Given the description of an element on the screen output the (x, y) to click on. 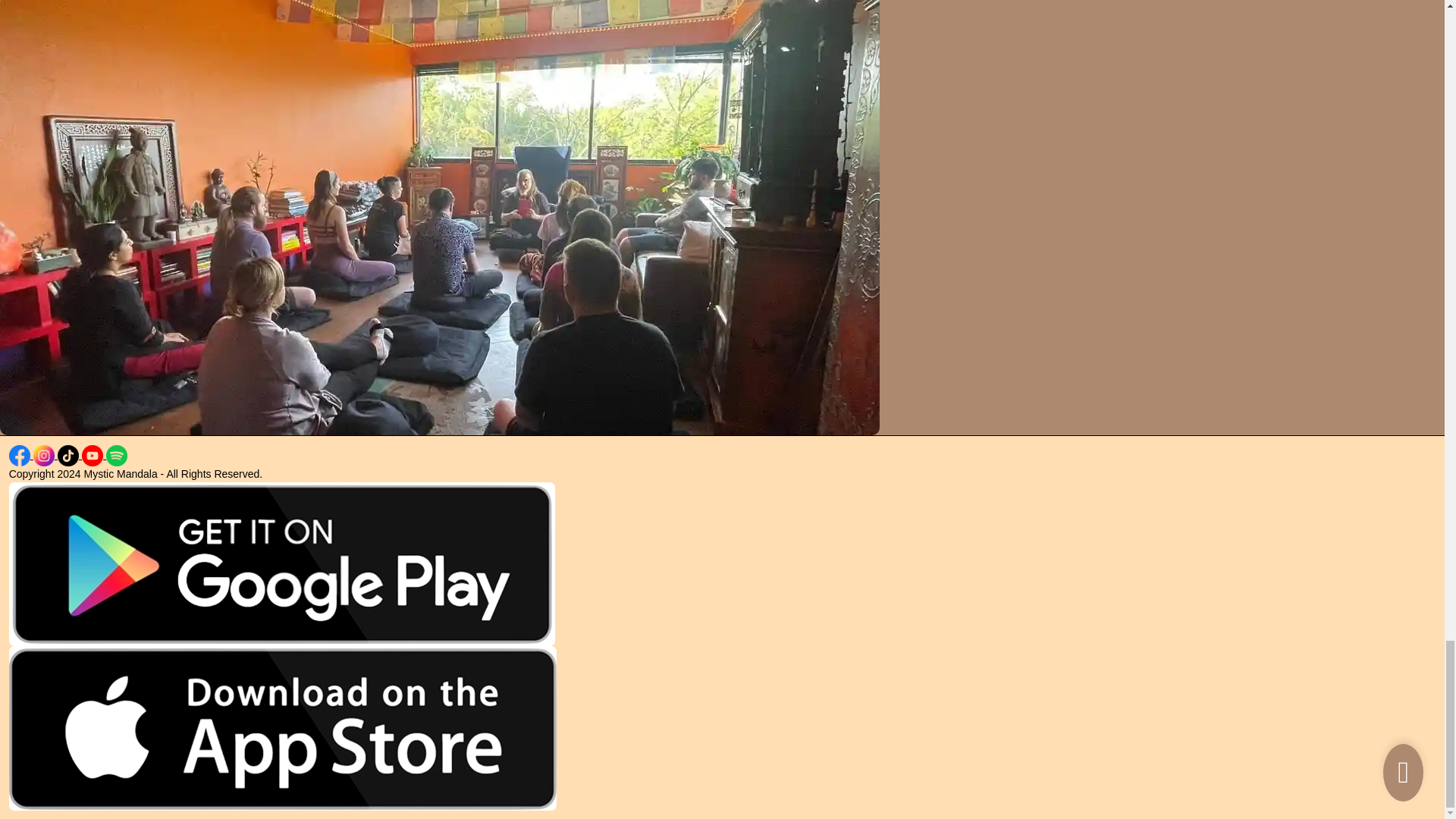
Send Message (55, 24)
